Given the description of an element on the screen output the (x, y) to click on. 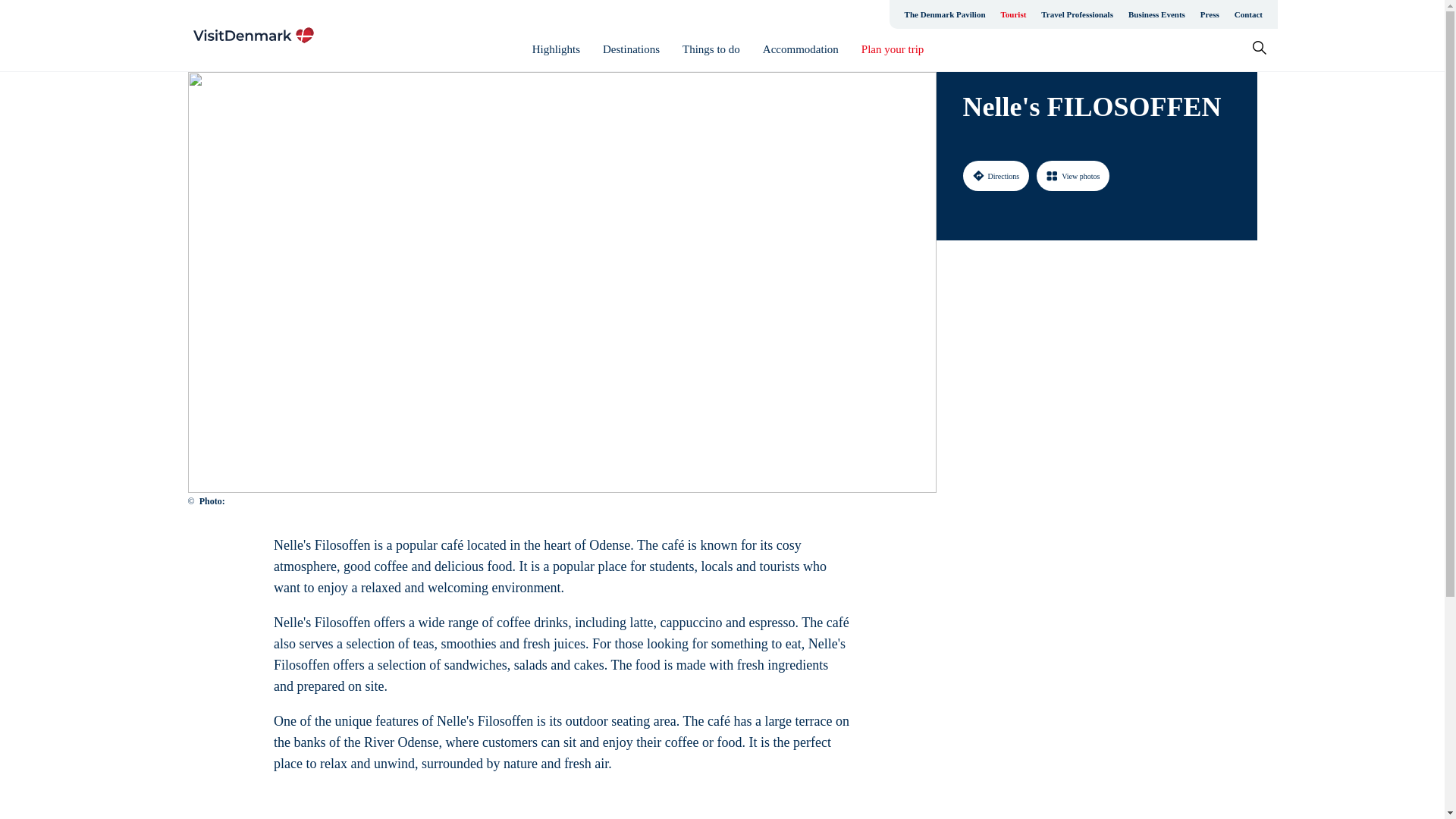
Contact (1248, 14)
Destinations (630, 49)
Highlights (555, 49)
Tourist (1012, 14)
Travel Professionals (1077, 14)
Directions (995, 175)
Accommodation (800, 49)
Press (1209, 14)
Things to do (710, 49)
The Denmark Pavilion (944, 14)
Plan your trip (892, 49)
View photos (1072, 175)
Go to homepage (253, 35)
Business Events (1156, 14)
